Given the description of an element on the screen output the (x, y) to click on. 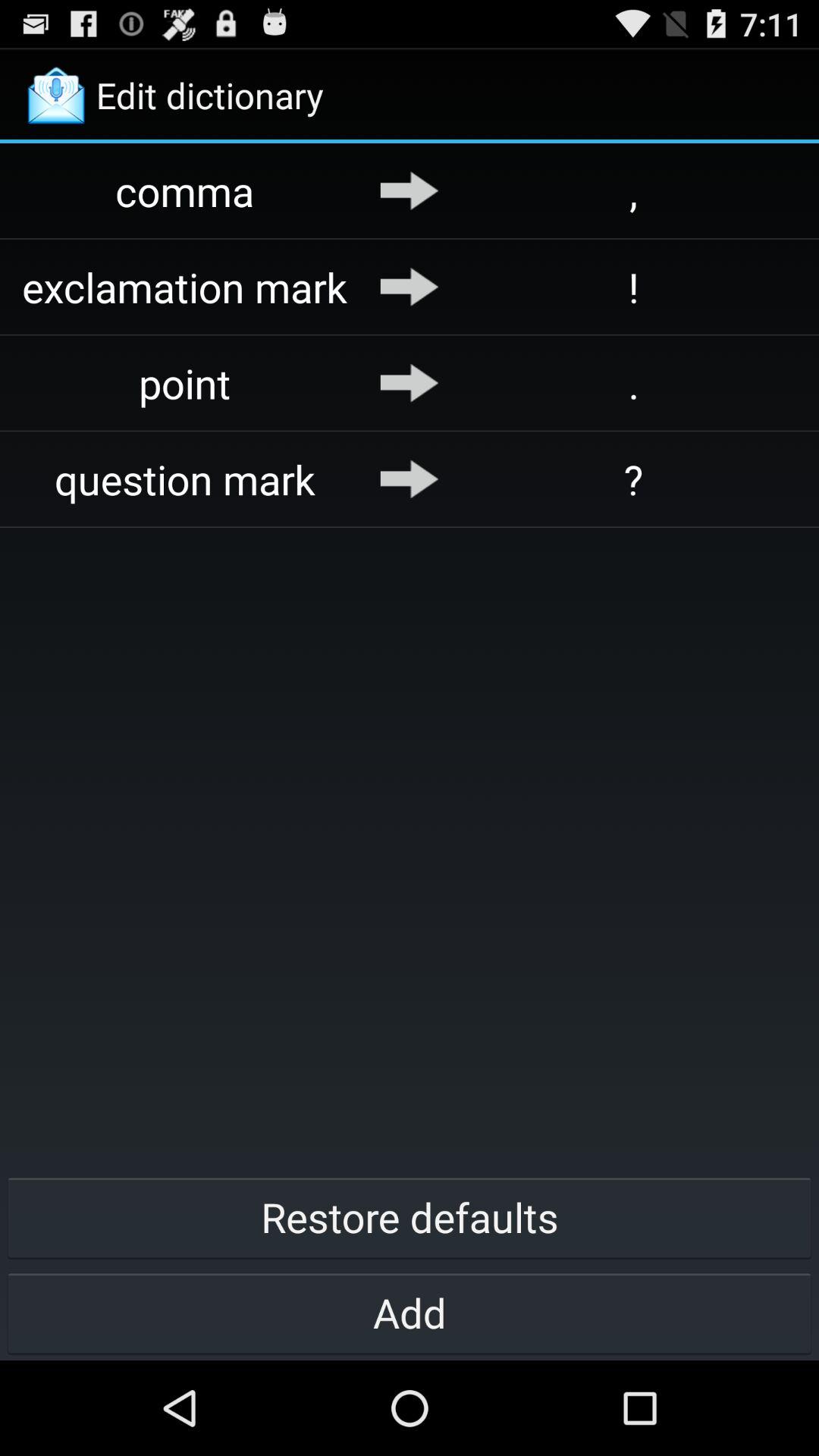
choose the question mark item (185, 478)
